Given the description of an element on the screen output the (x, y) to click on. 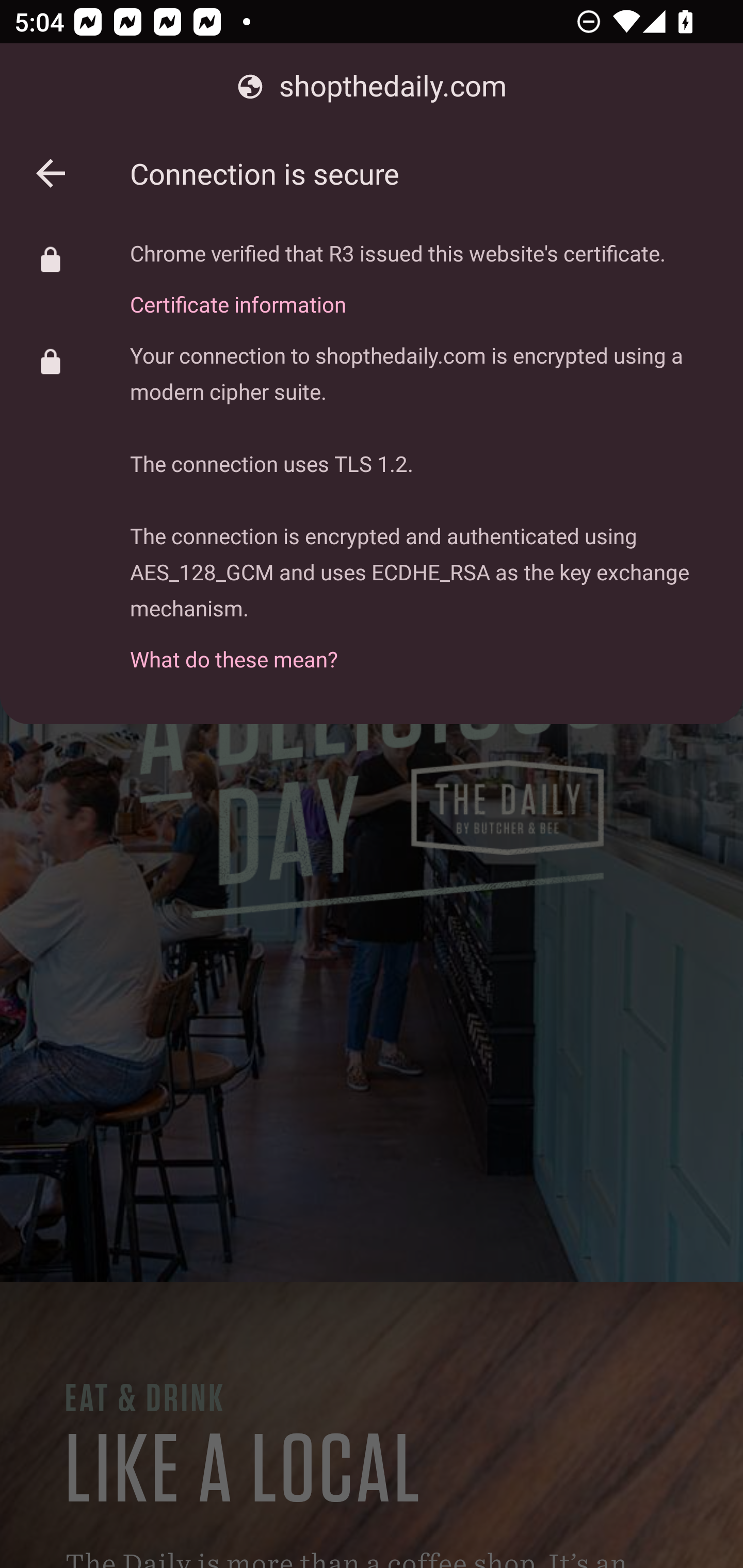
shopthedaily.com (371, 86)
Back (50, 173)
Certificate information (398, 293)
What do these mean? (422, 648)
